Given the description of an element on the screen output the (x, y) to click on. 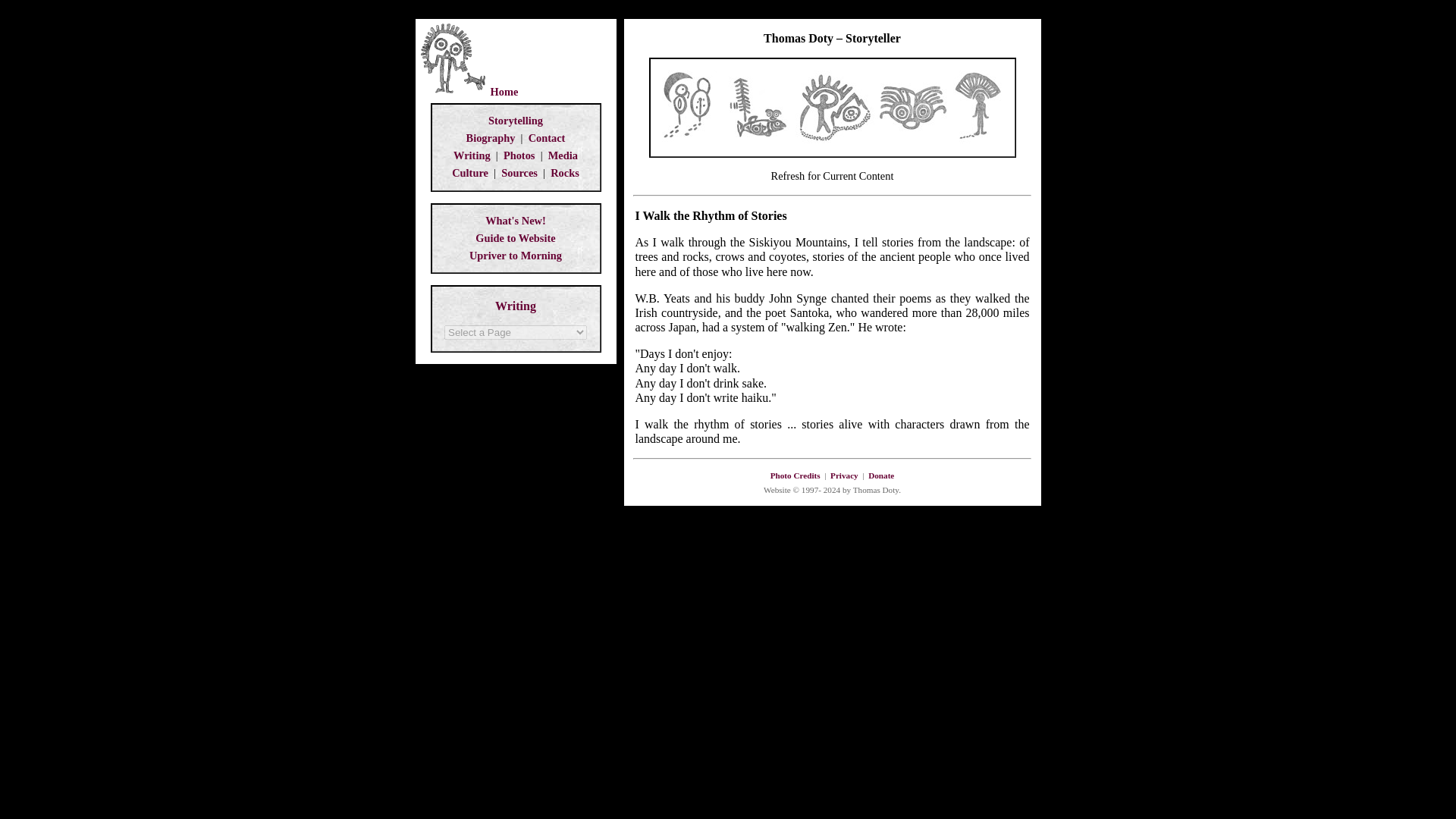
Storytelling (515, 120)
Reload Page. (832, 175)
Writing (471, 155)
Guide to Website (515, 237)
Contact (547, 137)
Stories from the Native West. (515, 120)
Native Story by Tish McFadden. (515, 255)
Listen, Watch, Read. (563, 155)
Media (563, 155)
Home (503, 91)
